Given the description of an element on the screen output the (x, y) to click on. 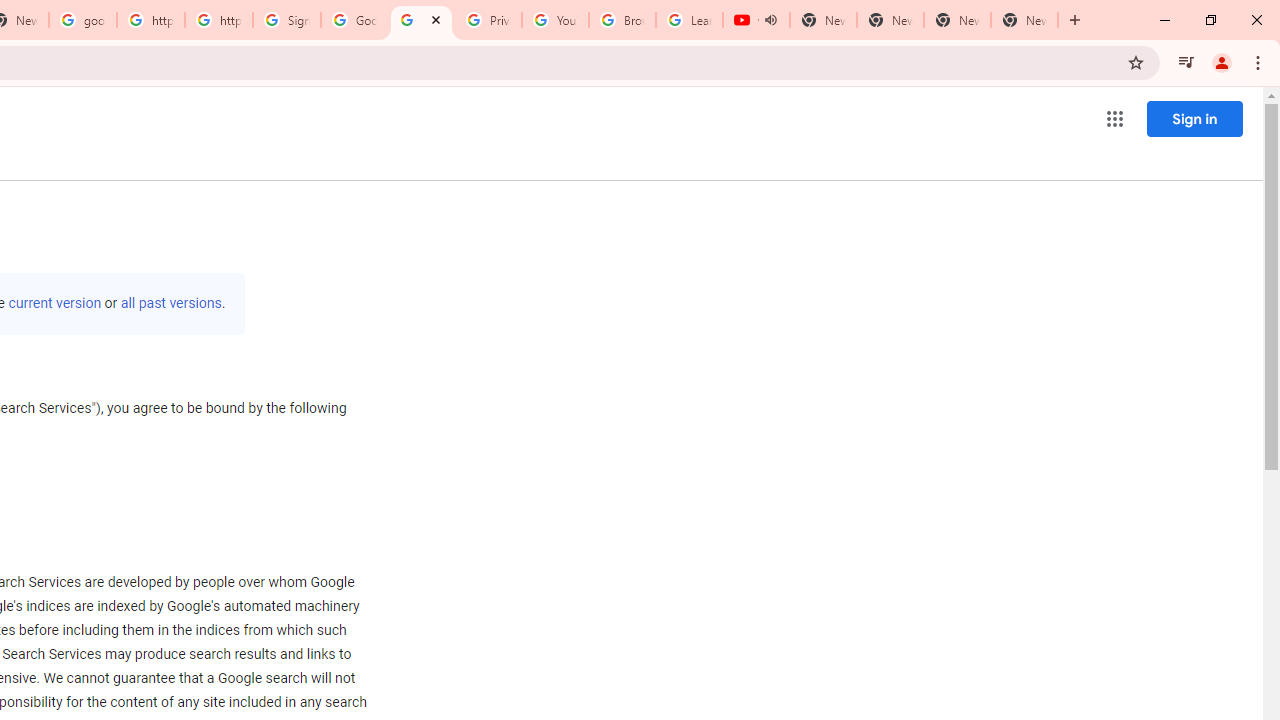
New Tab (1024, 20)
